Given the description of an element on the screen output the (x, y) to click on. 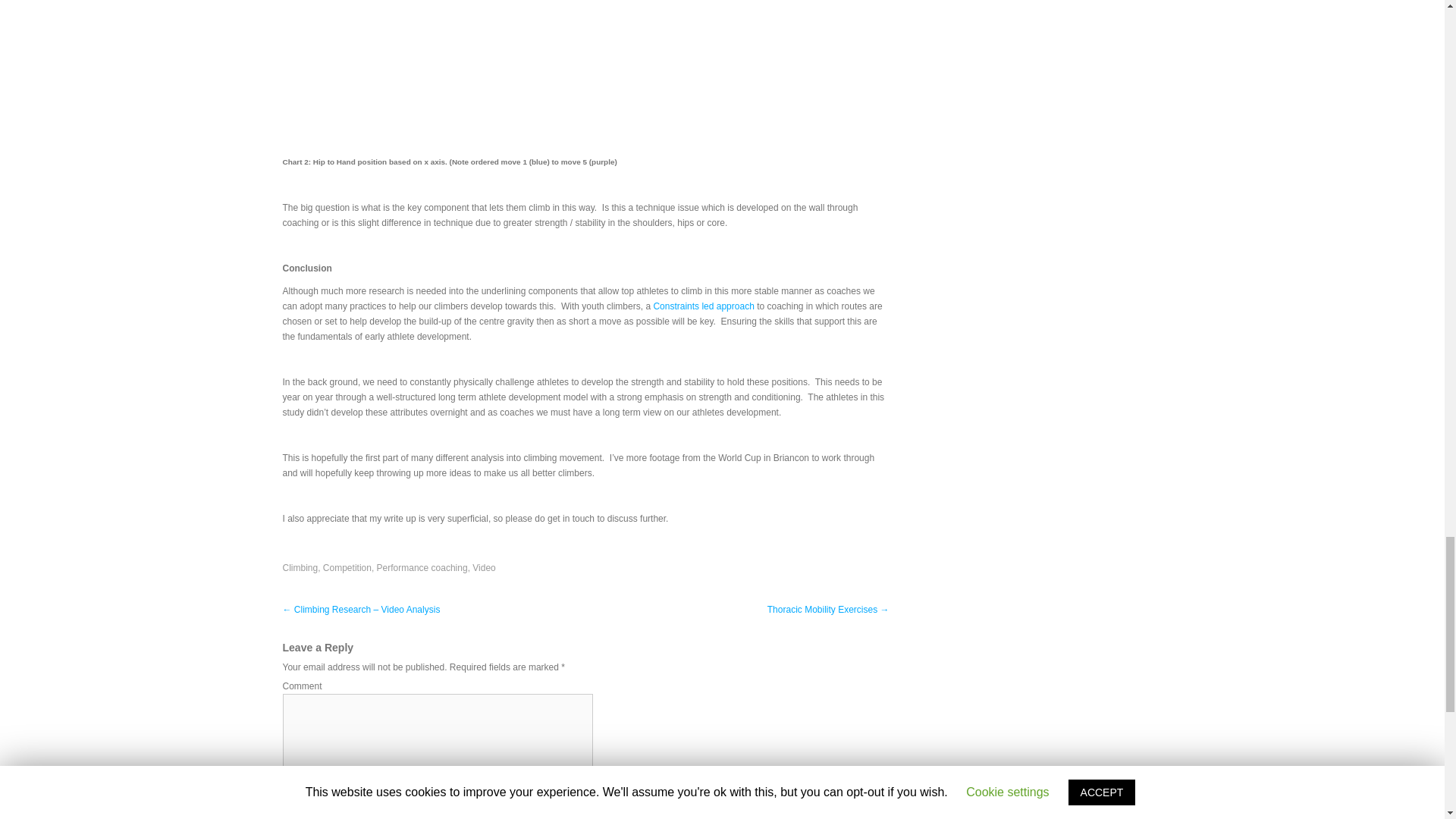
Video (483, 567)
Constraints led approach (703, 306)
Competition (347, 567)
Performance coaching (422, 567)
Climbing (299, 567)
